Given the description of an element on the screen output the (x, y) to click on. 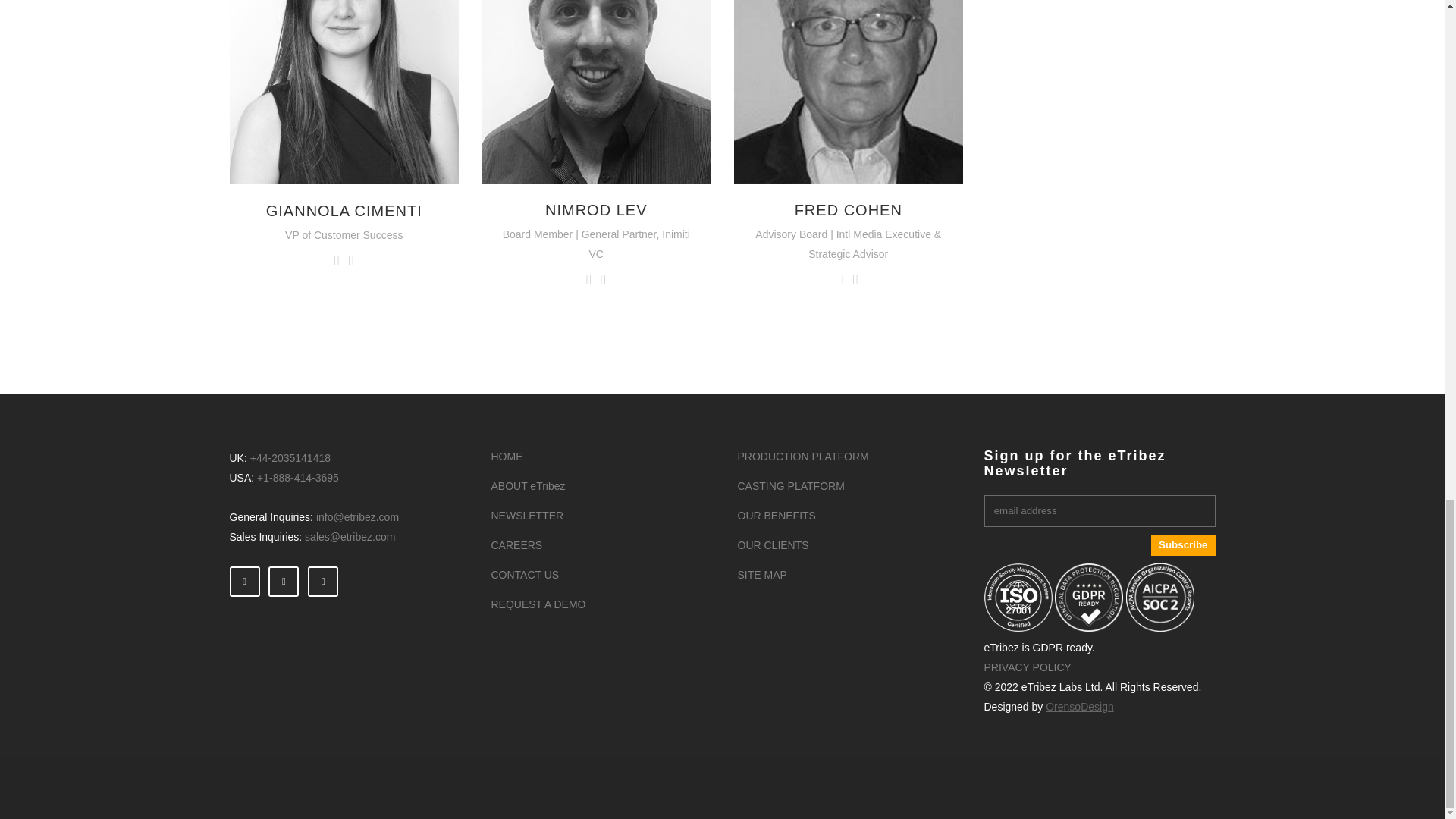
Subscribe (1182, 545)
